Given the description of an element on the screen output the (x, y) to click on. 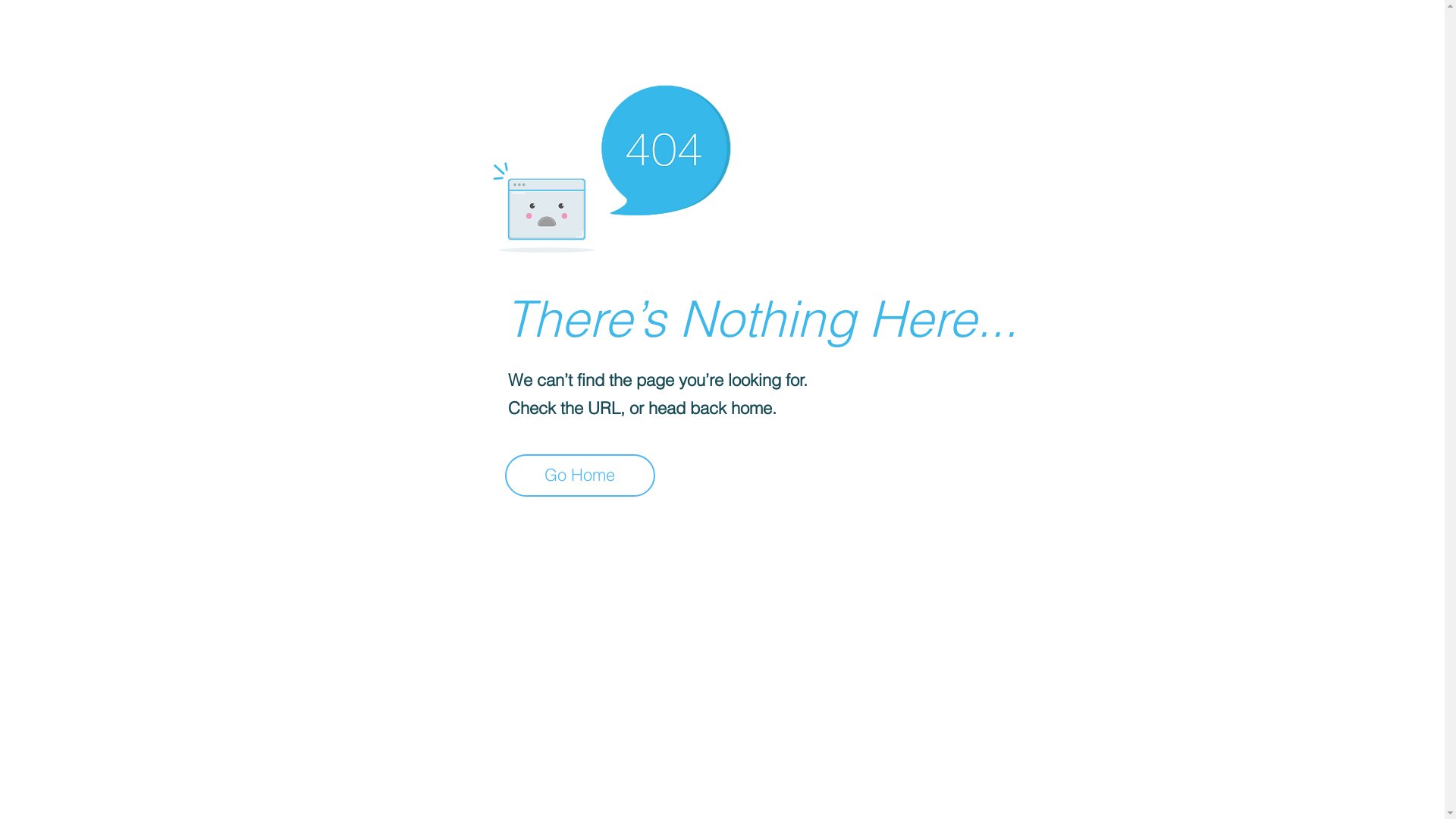
Go Home Element type: text (580, 475)
404-icon_2.png Element type: hover (610, 164)
